Given the description of an element on the screen output the (x, y) to click on. 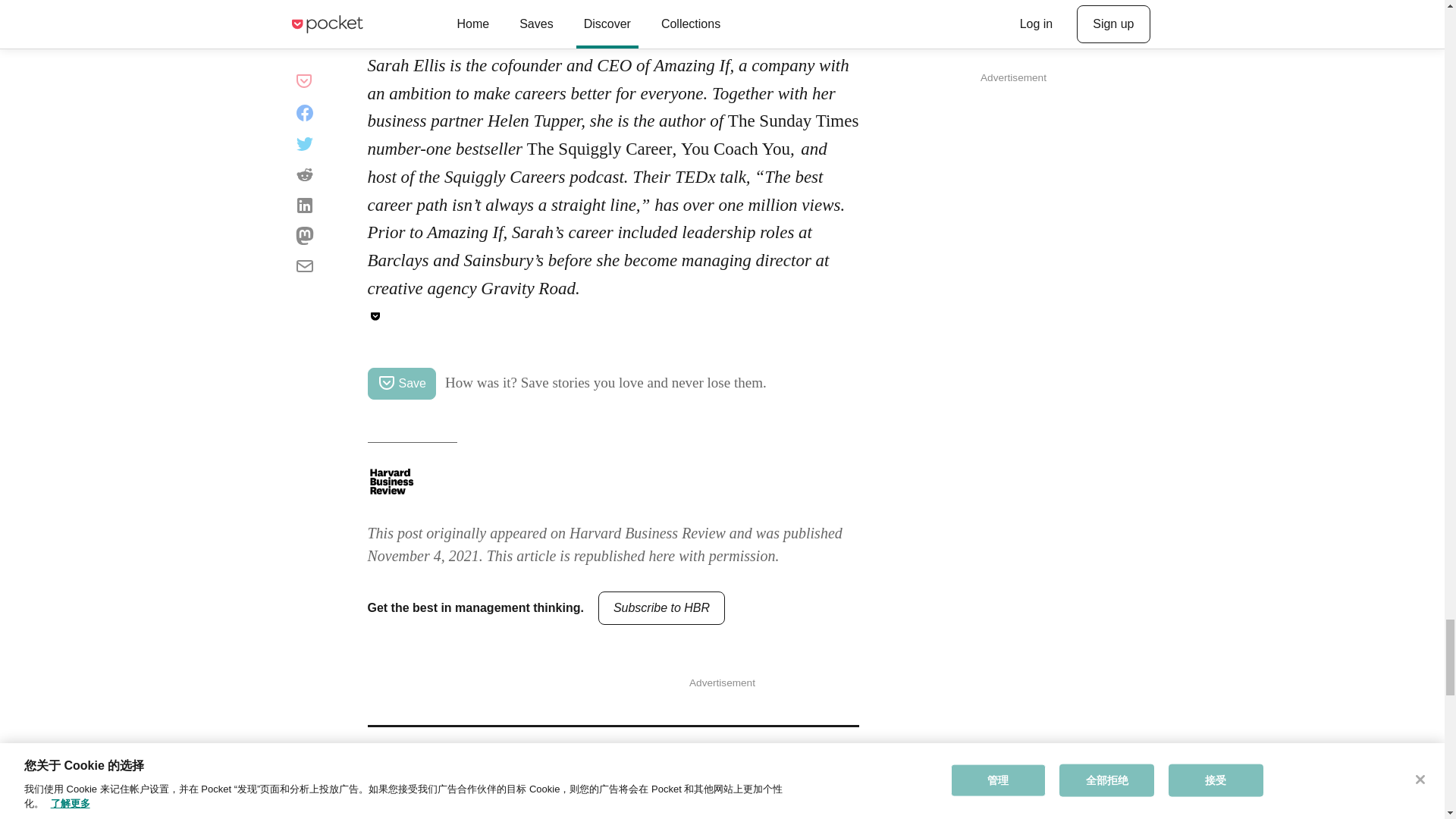
Save (400, 383)
Subscribe to HBR (661, 607)
